Given the description of an element on the screen output the (x, y) to click on. 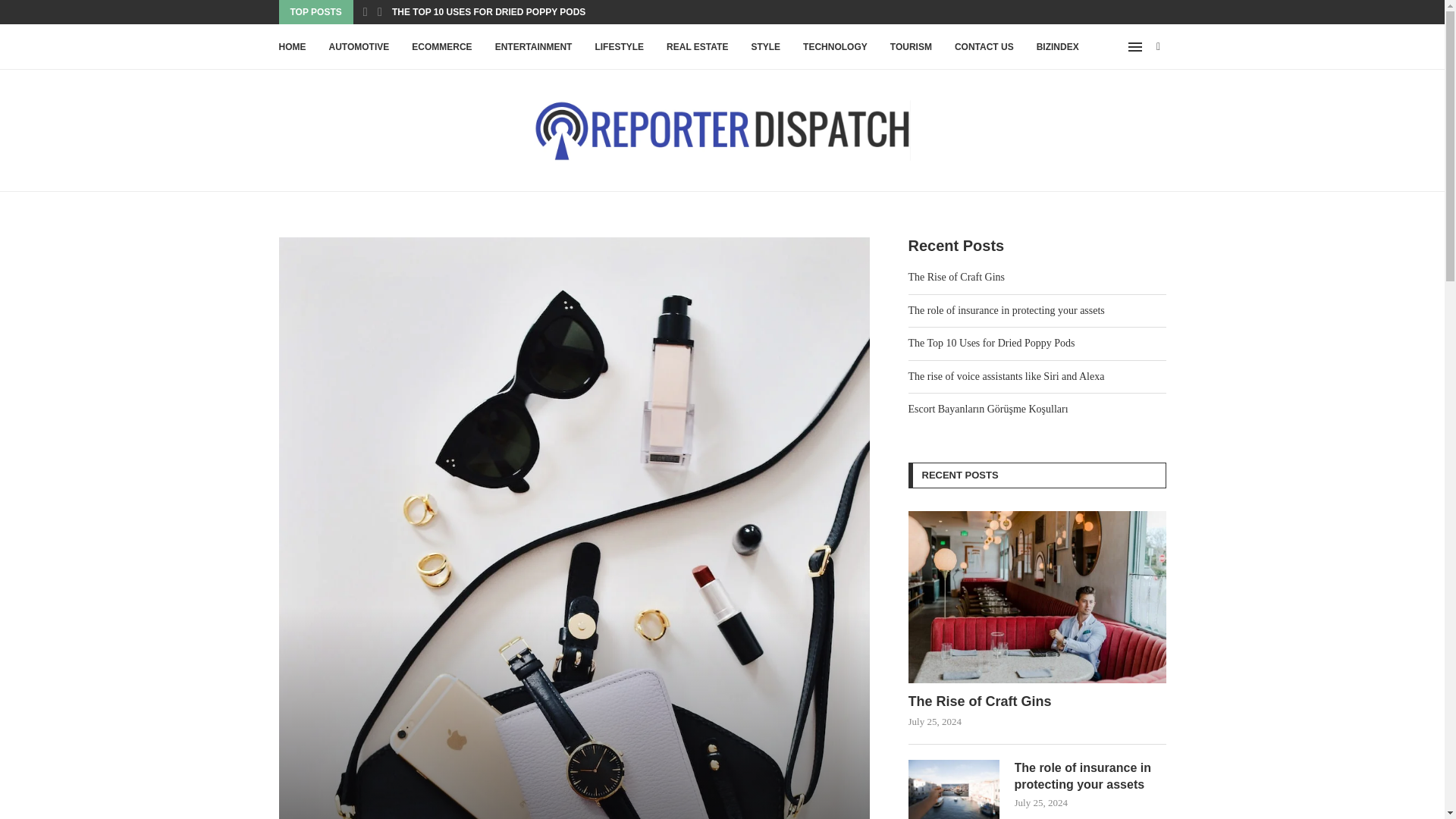
TOURISM (910, 46)
TECHNOLOGY (835, 46)
CONTACT US (984, 46)
REAL ESTATE (697, 46)
The Rise of Craft Gins (1037, 597)
LIFESTYLE (618, 46)
ENTERTAINMENT (533, 46)
BIZINDEX (1057, 46)
AUTOMOTIVE (359, 46)
The role of insurance in protecting your assets (953, 789)
THE TOP 10 USES FOR DRIED POPPY PODS (488, 12)
The role of insurance in protecting your assets (1090, 776)
ECOMMERCE (441, 46)
The Rise of Craft Gins (1037, 701)
